Given the description of an element on the screen output the (x, y) to click on. 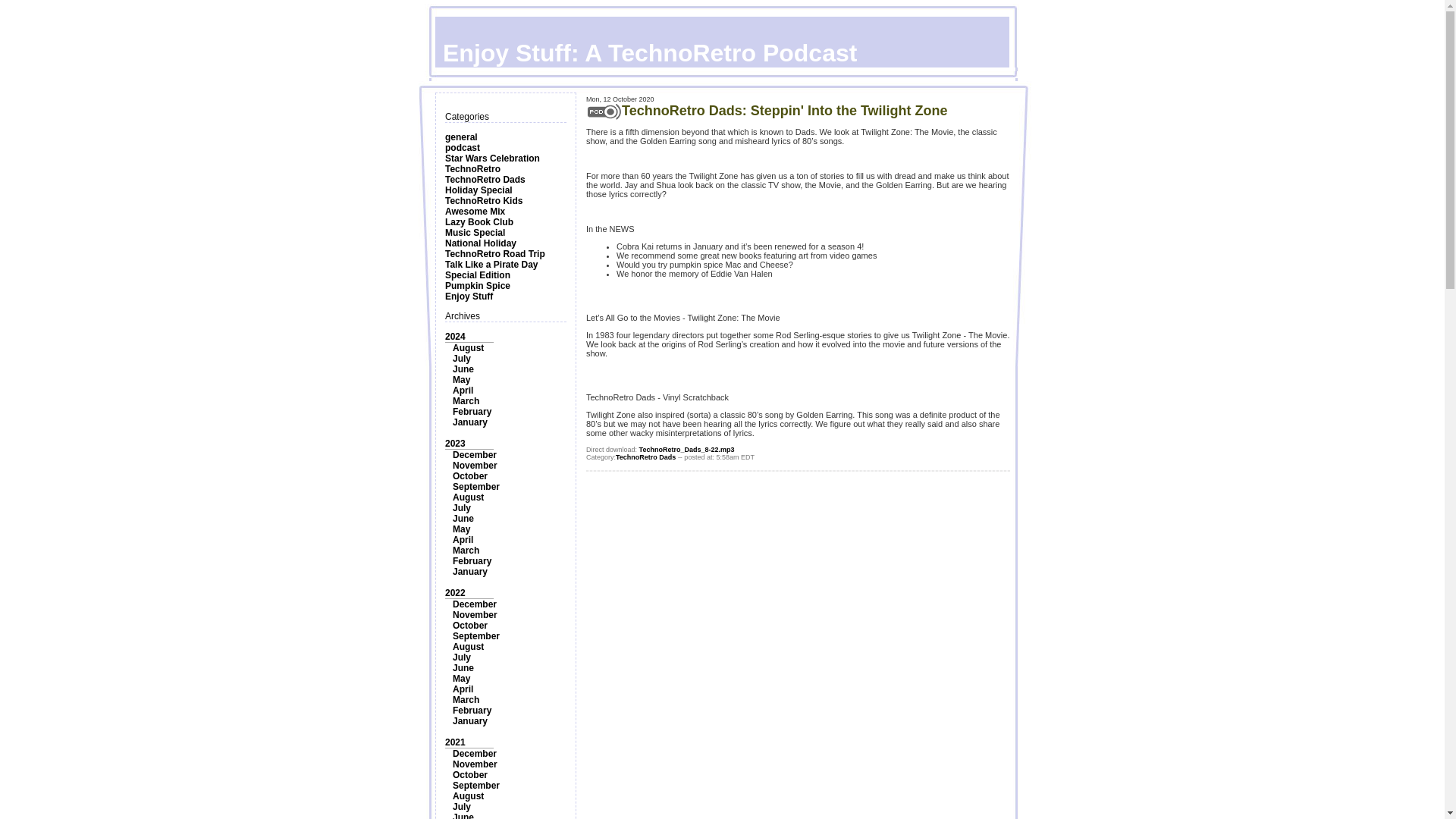
National Holiday (480, 243)
November (474, 465)
TechnoRetro Road Trip (494, 253)
December (474, 603)
January (469, 421)
April (462, 539)
June (463, 368)
Holiday Special (478, 190)
February (472, 411)
May (461, 379)
